Given the description of an element on the screen output the (x, y) to click on. 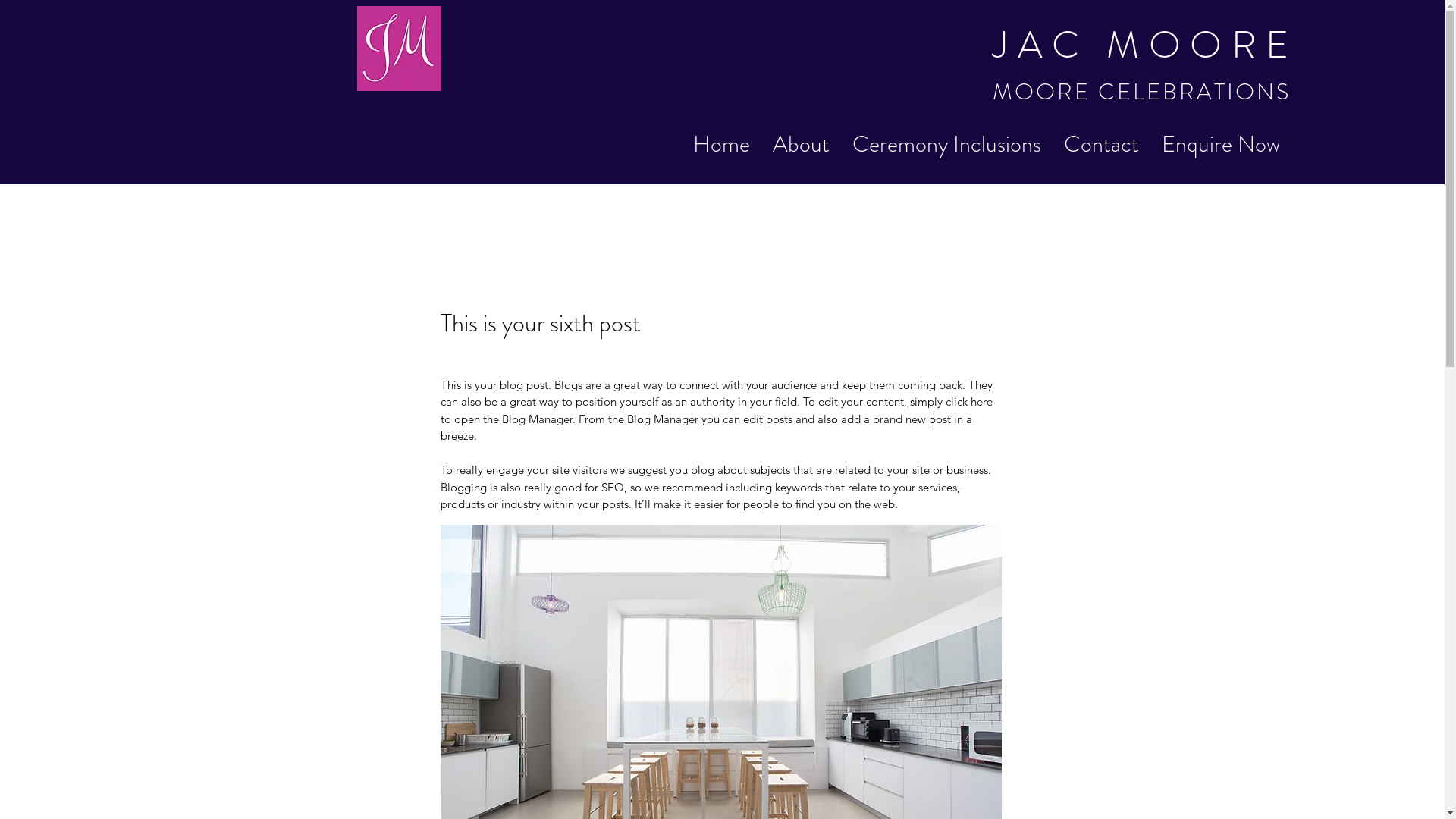
About Element type: text (800, 144)
Ceremony Inclusions Element type: text (946, 144)
Enquire Now Element type: text (1220, 144)
Contact Element type: text (1101, 144)
Home Element type: text (721, 144)
